Given the description of an element on the screen output the (x, y) to click on. 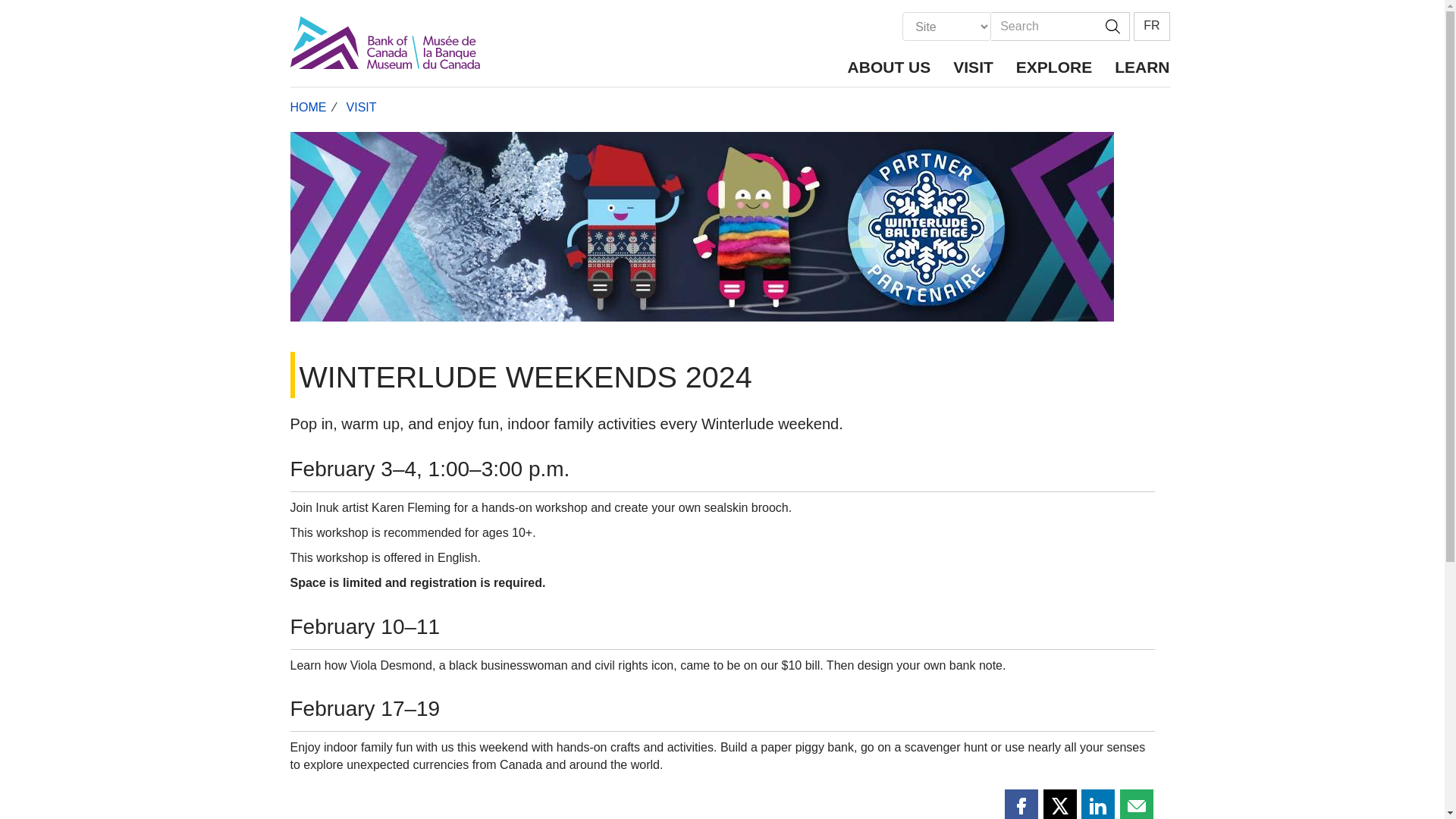
VISIT (973, 65)
Share this page on X (1060, 804)
Share this page on Facebook (1021, 804)
ABOUT US (888, 65)
EXPLORE (1053, 65)
LEARN (1136, 65)
Search (1043, 26)
Share this page on LinkedIn (1098, 804)
Share this page by email (1136, 804)
Search (1112, 26)
FR (1151, 26)
